Given the description of an element on the screen output the (x, y) to click on. 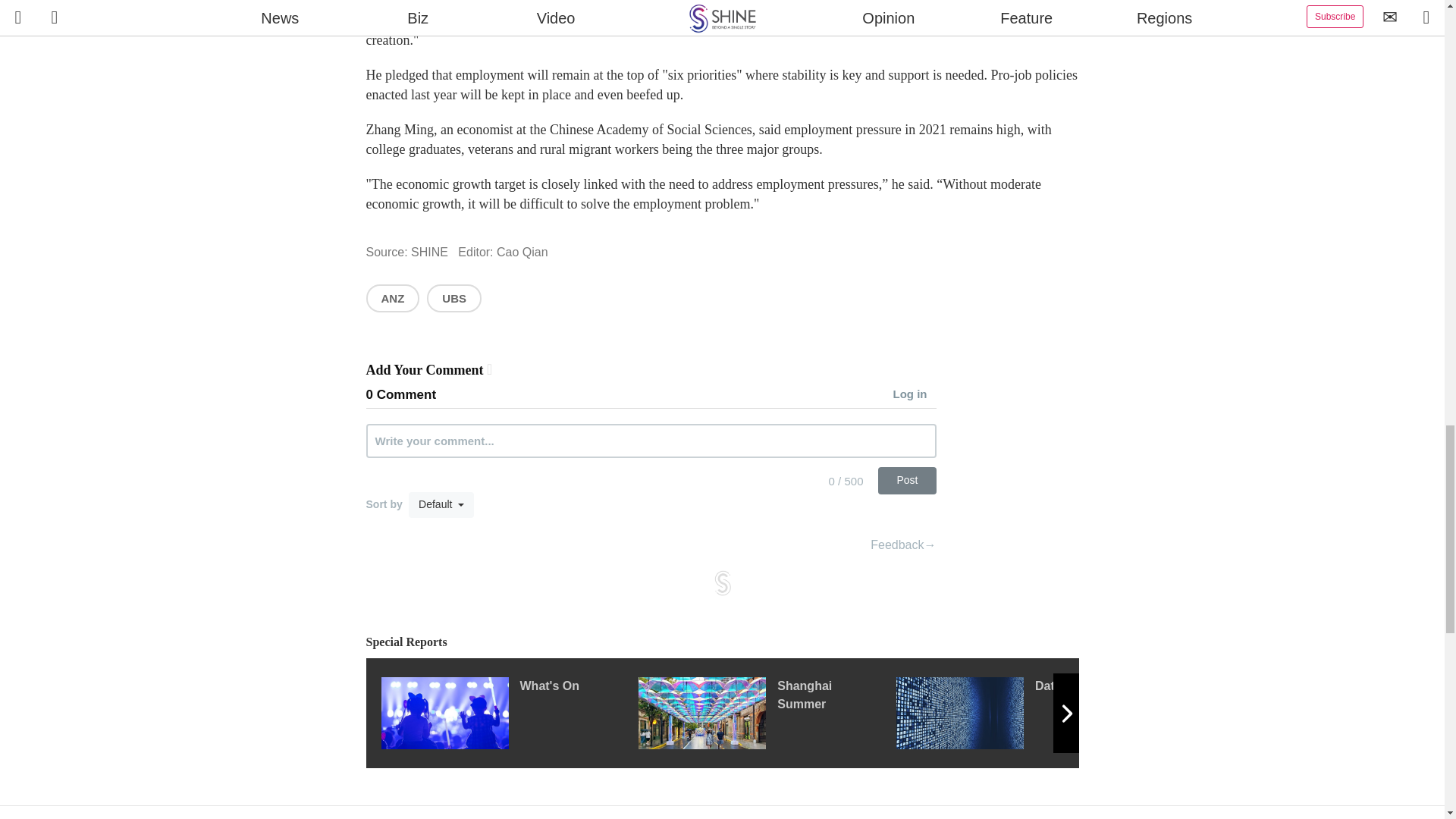
Shanghai Summer (767, 712)
Log in (914, 395)
Special Reports (721, 642)
Default   (441, 504)
What's On (508, 712)
UBS (453, 298)
Data News (1024, 712)
ANZ (392, 298)
